Given the description of an element on the screen output the (x, y) to click on. 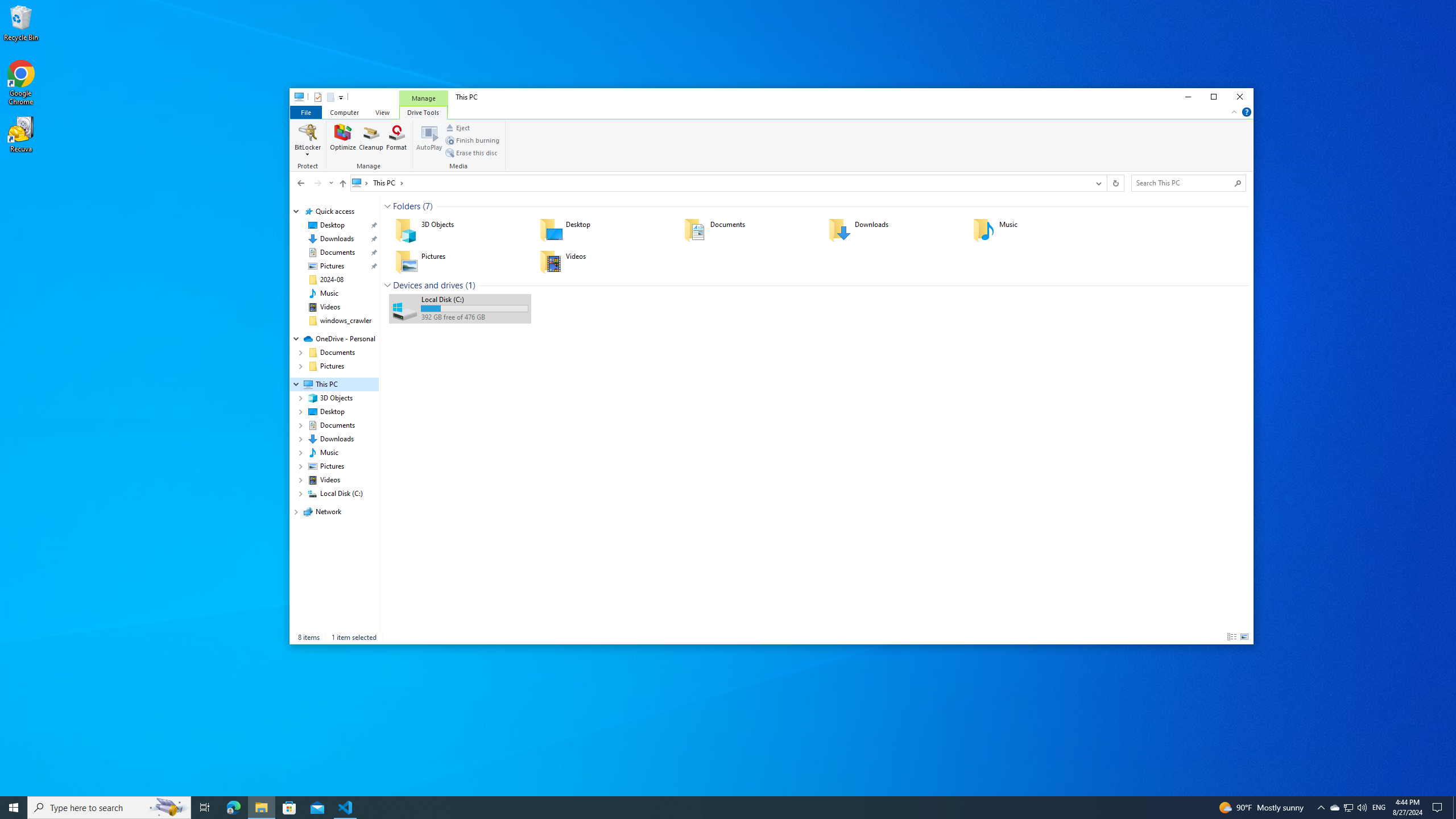
Details (1231, 636)
Manage (370, 145)
Music (328, 293)
Large Icons (1243, 636)
Local Disk (C:) (459, 308)
Finish burning (473, 140)
Address: This PC (719, 182)
Count (470, 285)
Search (1238, 182)
Collapse Group (386, 285)
Documents (pinned) (337, 252)
Music (1037, 229)
